Given the description of an element on the screen output the (x, y) to click on. 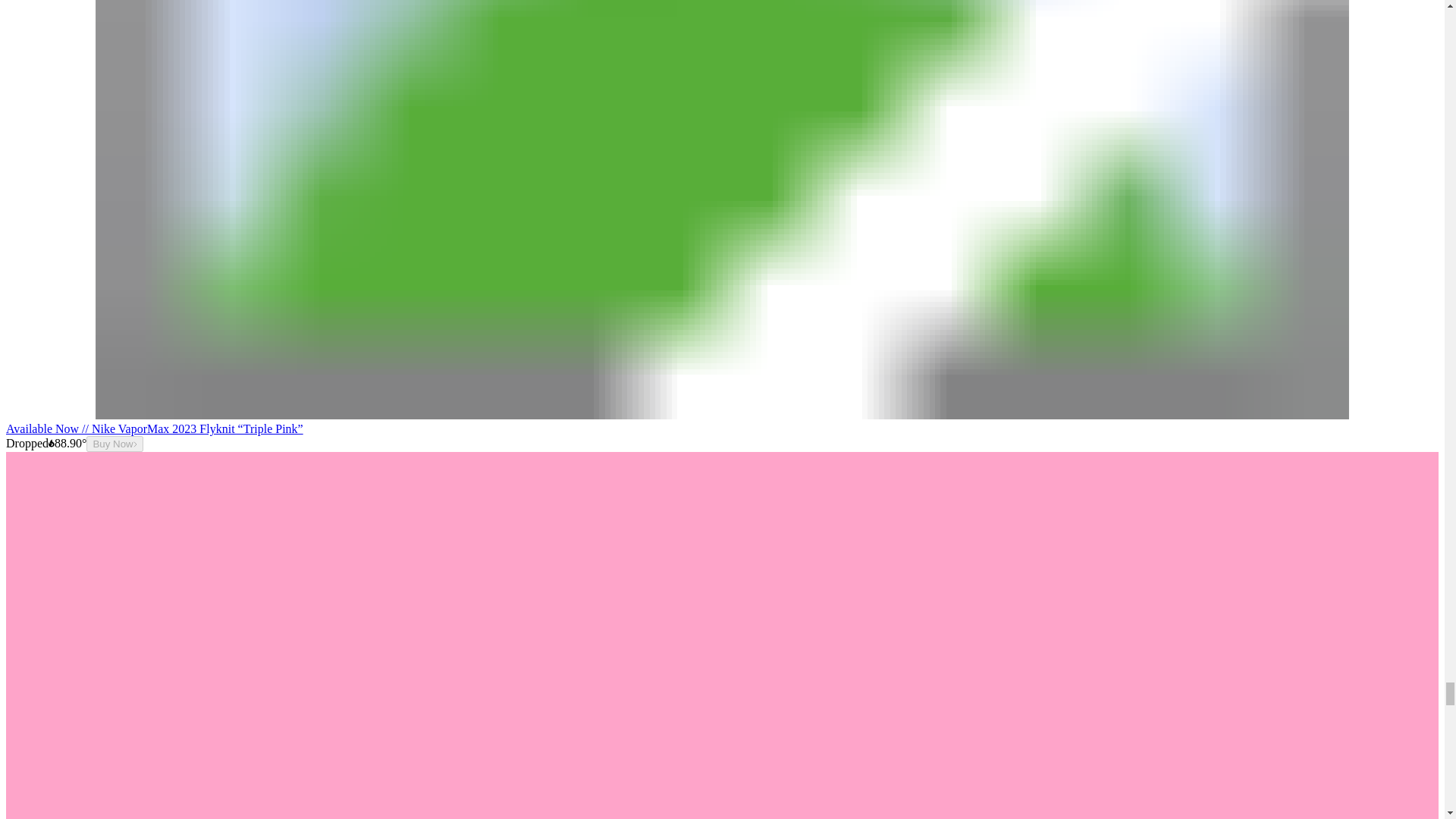
Buy Now (113, 443)
